Given the description of an element on the screen output the (x, y) to click on. 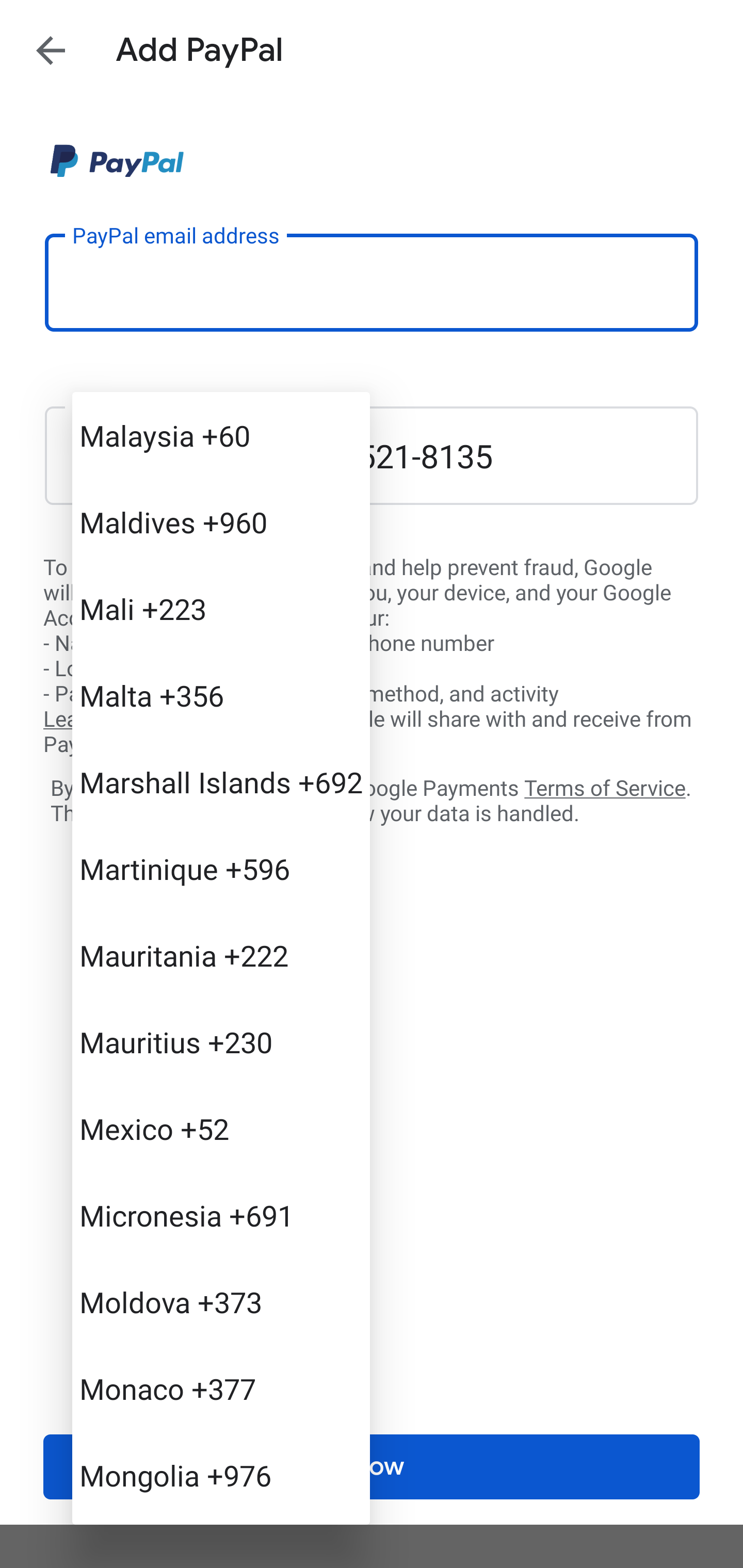
Malaysia +60 (221, 435)
Maldives +960 (221, 522)
Mali +223 (221, 609)
Malta +356 (221, 695)
Marshall Islands +692 (221, 781)
Martinique +596 (221, 868)
Mauritania +222 (221, 955)
Mauritius +230 (221, 1041)
Mexico +52 (221, 1128)
Micronesia +691 (221, 1215)
Moldova +373 (221, 1302)
Monaco +377 (221, 1388)
Mongolia +976 (221, 1474)
